Given the description of an element on the screen output the (x, y) to click on. 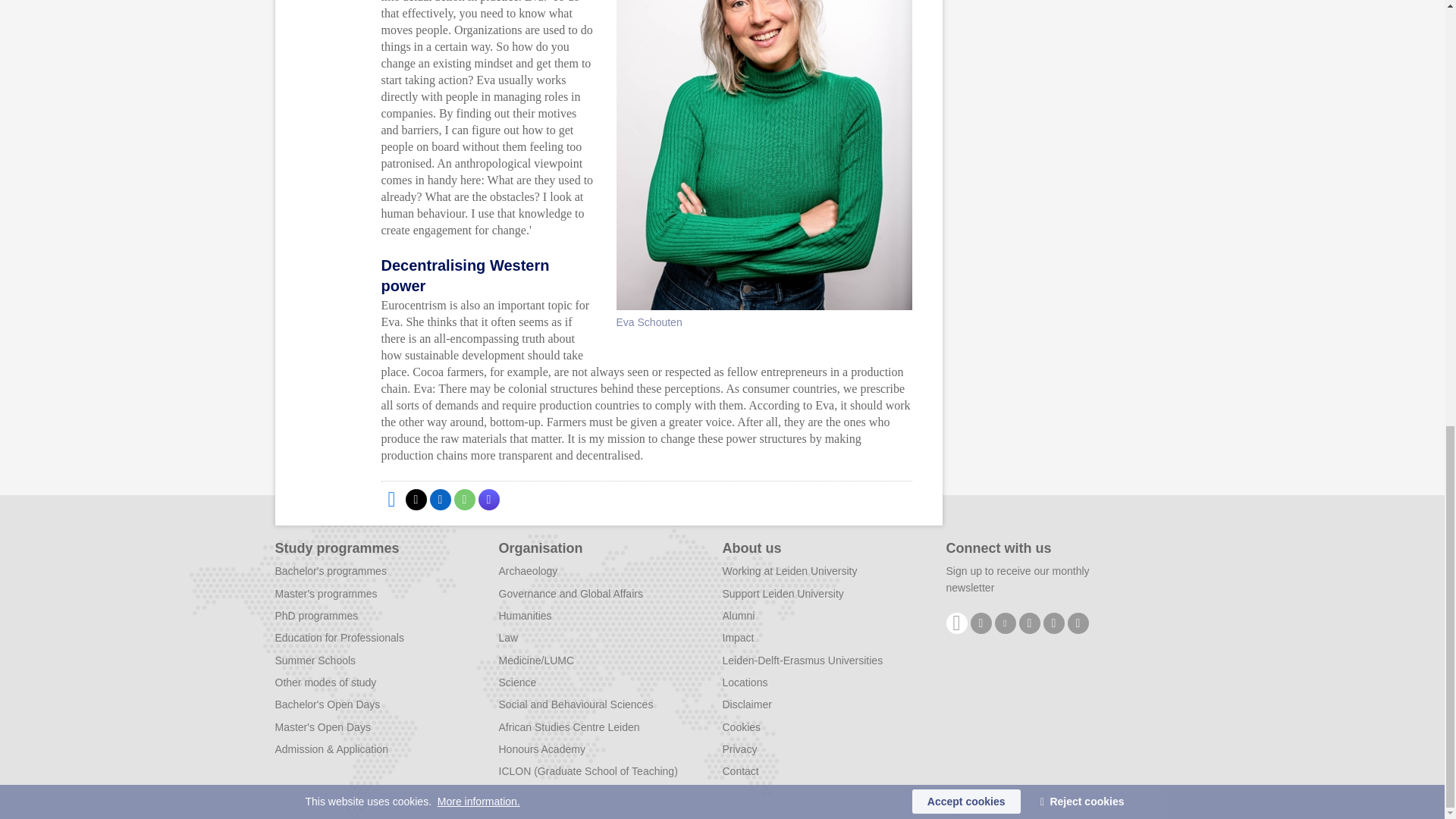
Share by WhatsApp (463, 499)
Share on LinkedIn (439, 499)
Share on Facebook (390, 499)
Share on X (415, 499)
Share by Mastodon (488, 499)
